Given the description of an element on the screen output the (x, y) to click on. 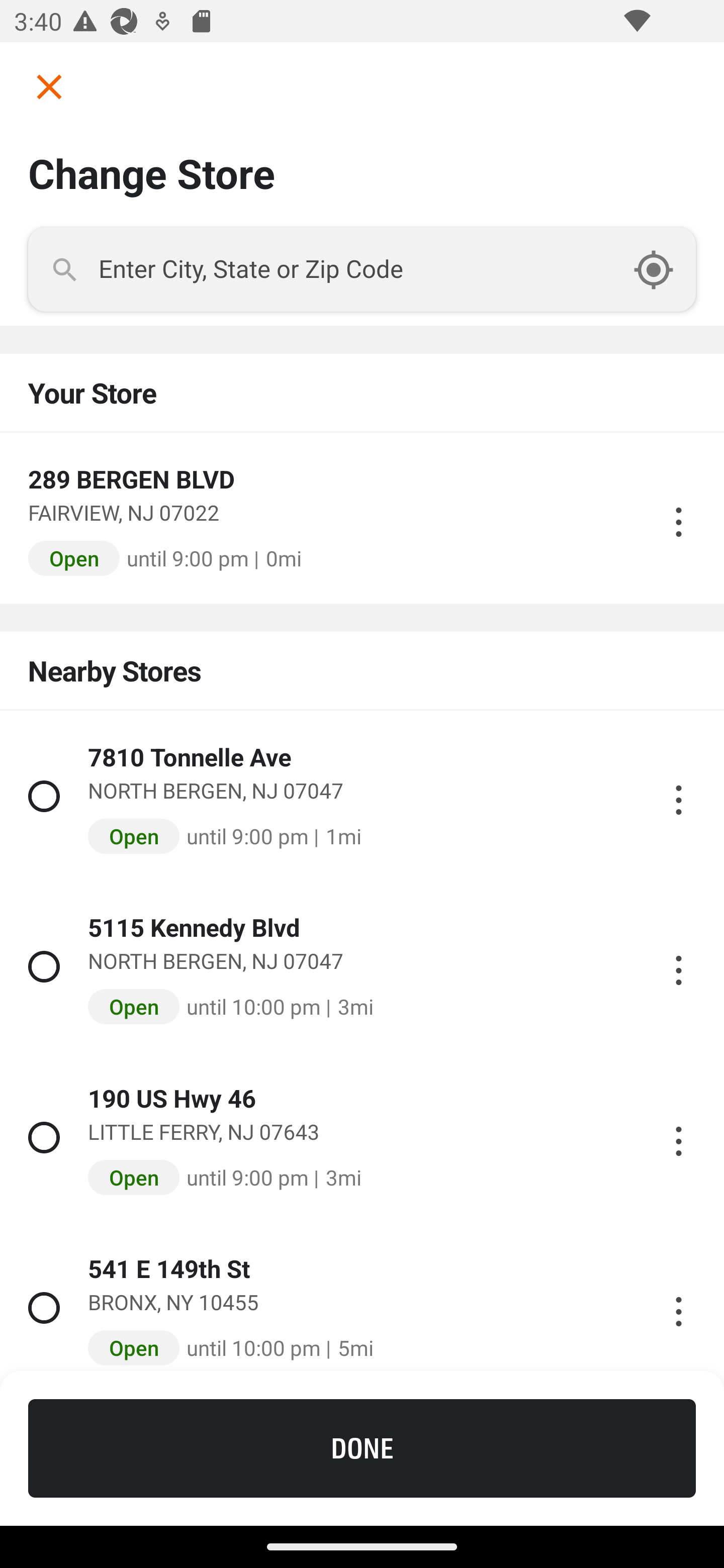
close-button  (42, 86)
Enter City, State or Zip Code search-bar-input (361, 269)
search-location-button  (663, 269)
more-actions-for-289 BERGEN BLVD ︙ (678, 517)
more-actions-for-7810 Tonnelle Ave ︙ (678, 796)
more-actions-for-5115 Kennedy Blvd ︙ (678, 966)
more-actions-for-190 US Hwy 46 ︙ (678, 1137)
more-actions-for-541 E 149th St ︙ (678, 1308)
DONE (361, 1447)
